Given the description of an element on the screen output the (x, y) to click on. 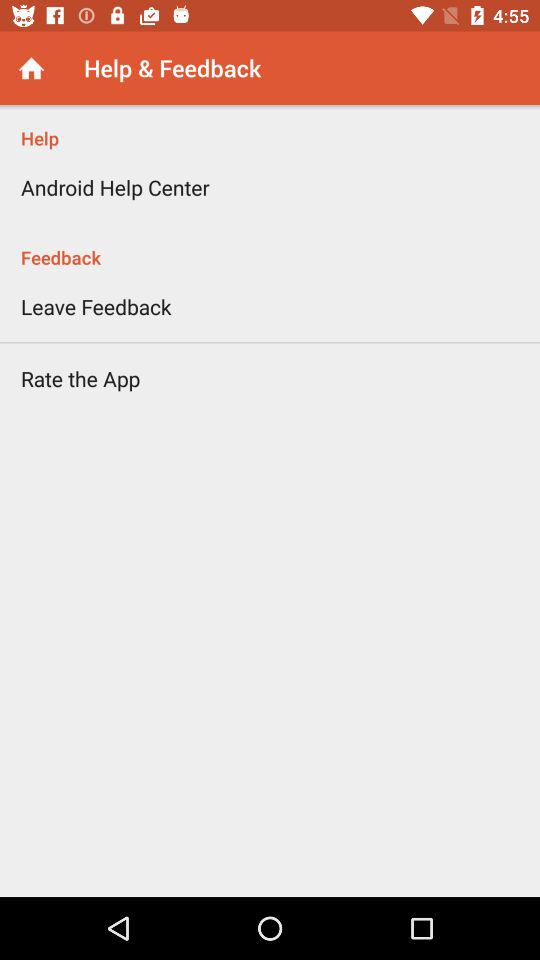
press the icon on the left (80, 378)
